Given the description of an element on the screen output the (x, y) to click on. 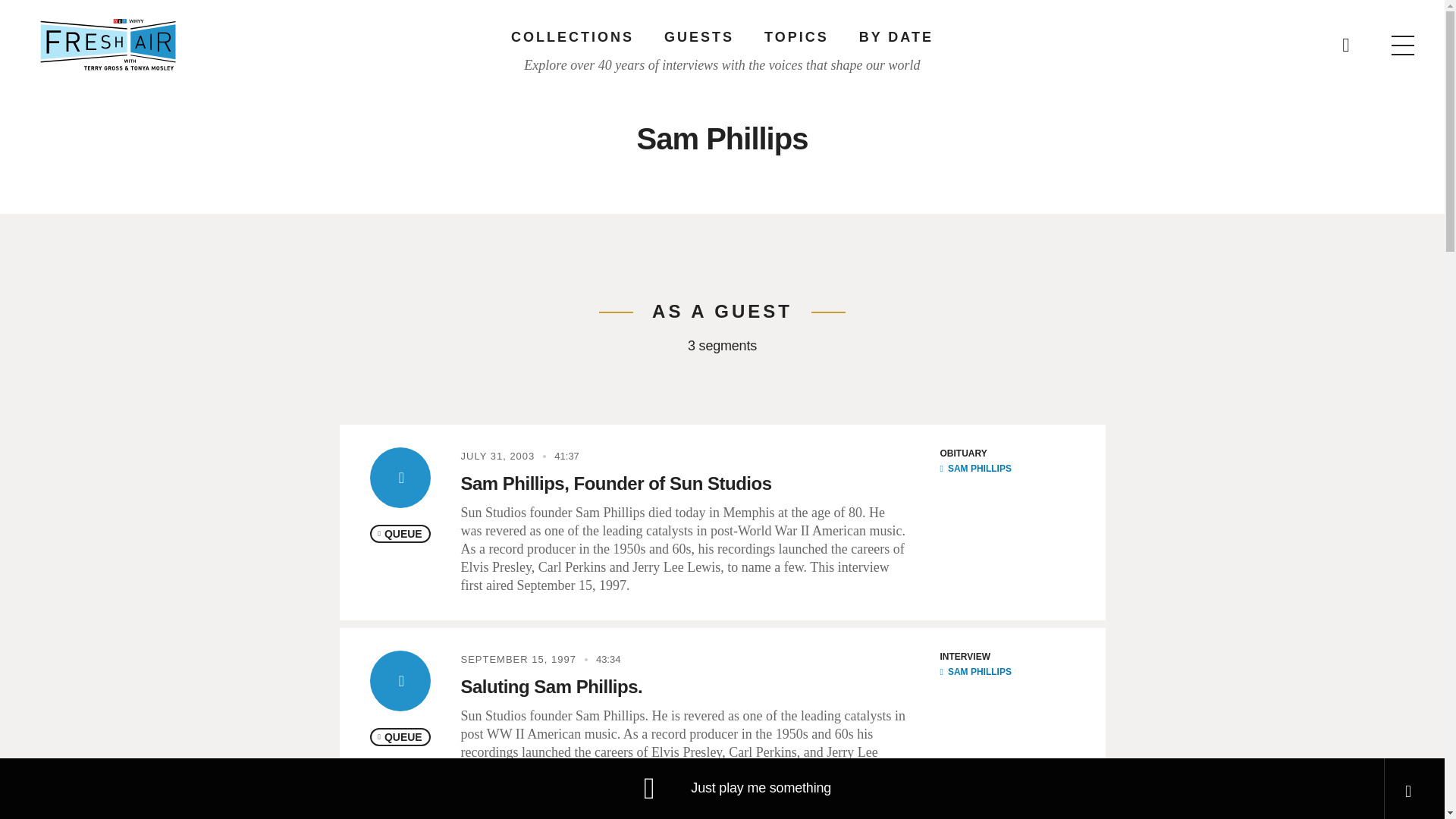
Saluting Sam Phillips. (552, 686)
Sam Phillips, Founder of Sun Studios (616, 483)
SAM PHILLIPS (975, 468)
Home (108, 44)
COLLECTIONS (572, 36)
GUESTS (698, 36)
TOPICS (796, 36)
Search (964, 37)
QUEUE (399, 533)
BY DATE (896, 36)
QUEUE (399, 737)
SAM PHILLIPS (975, 671)
